Given the description of an element on the screen output the (x, y) to click on. 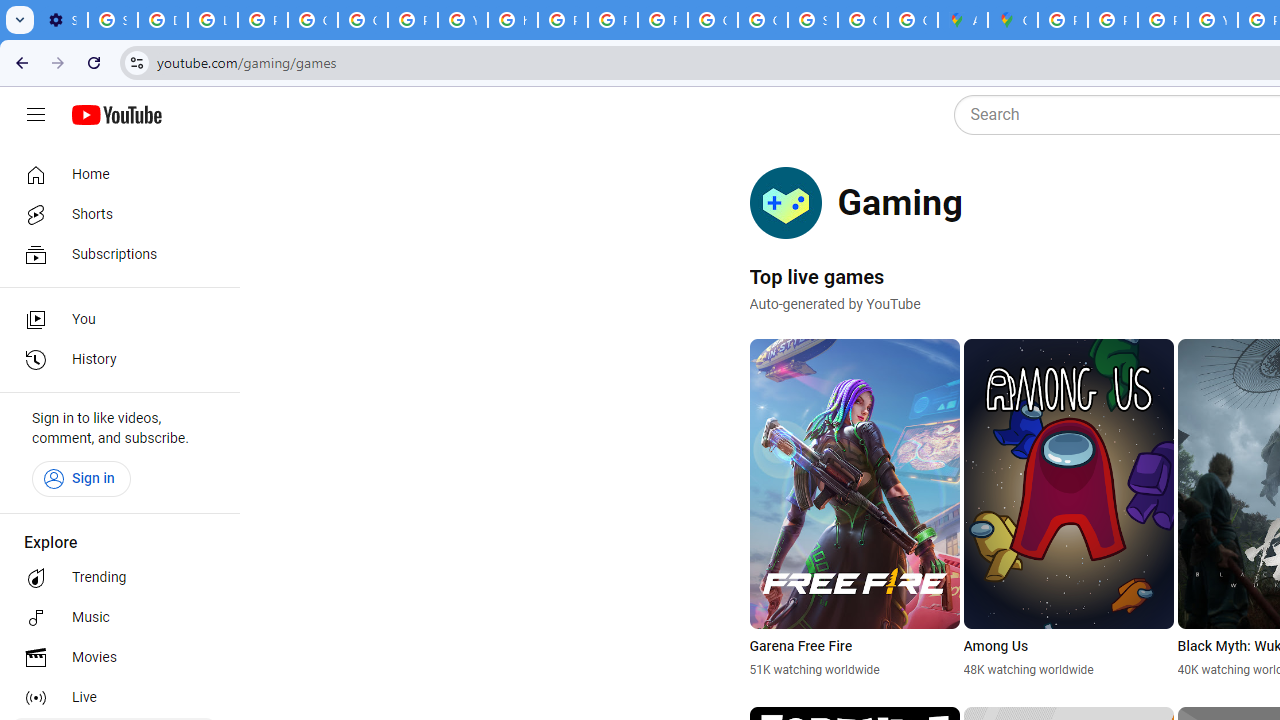
YouTube (462, 20)
YouTube (1212, 20)
Movies (113, 657)
Privacy Help Center - Policies Help (562, 20)
Home (113, 174)
Google Account Help (312, 20)
YouTube Home (116, 115)
Music (113, 617)
Policy Accountability and Transparency - Transparency Center (1062, 20)
